Given the description of an element on the screen output the (x, y) to click on. 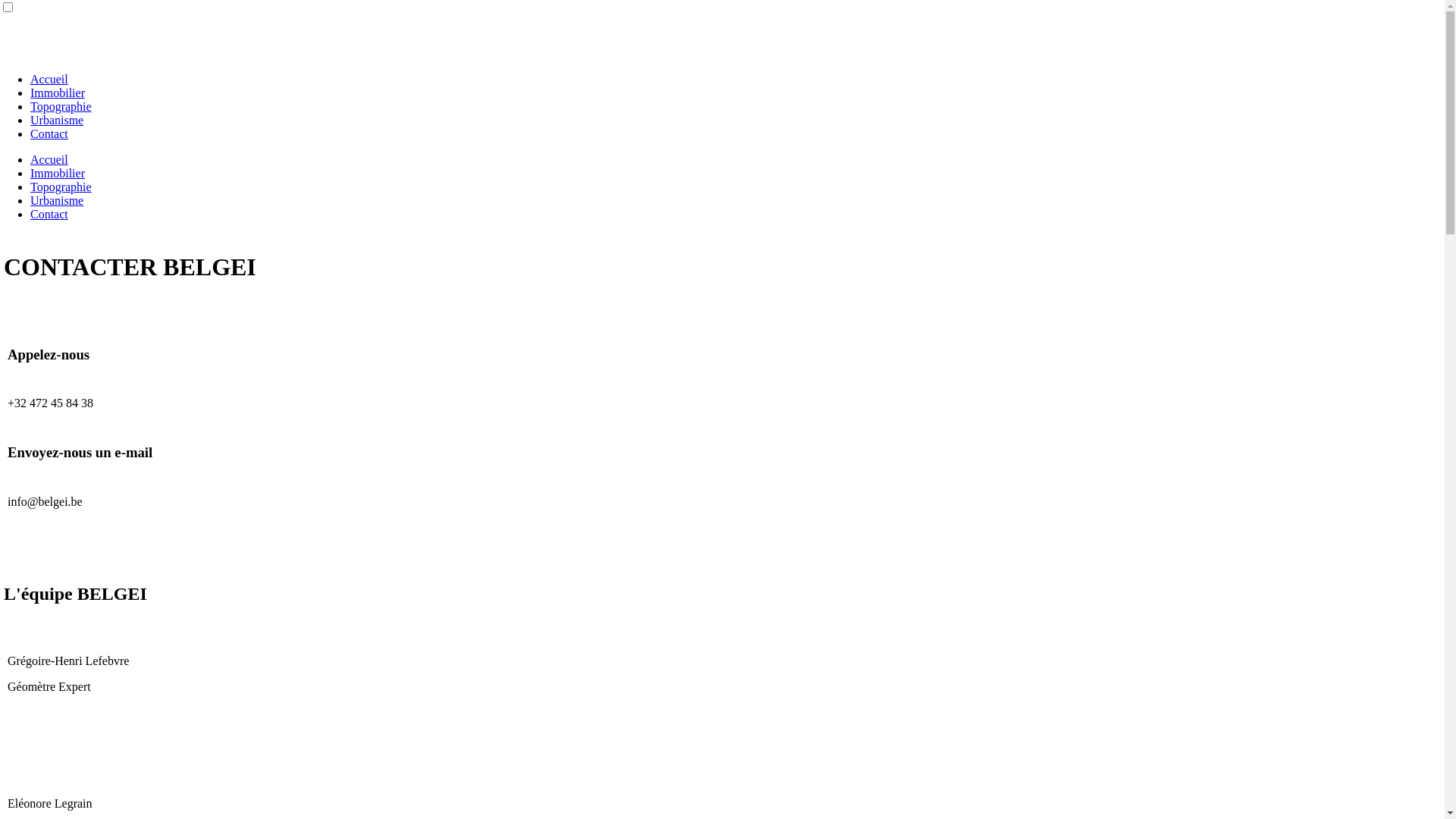
Immobilier Element type: text (57, 92)
Topographie Element type: text (60, 106)
Topographie Element type: text (60, 186)
Urbanisme Element type: text (56, 119)
Accueil Element type: text (49, 159)
Contact Element type: text (49, 213)
Contact Element type: text (49, 133)
Urbanisme Element type: text (56, 200)
Immobilier Element type: text (57, 172)
Accueil Element type: text (49, 78)
